Given the description of an element on the screen output the (x, y) to click on. 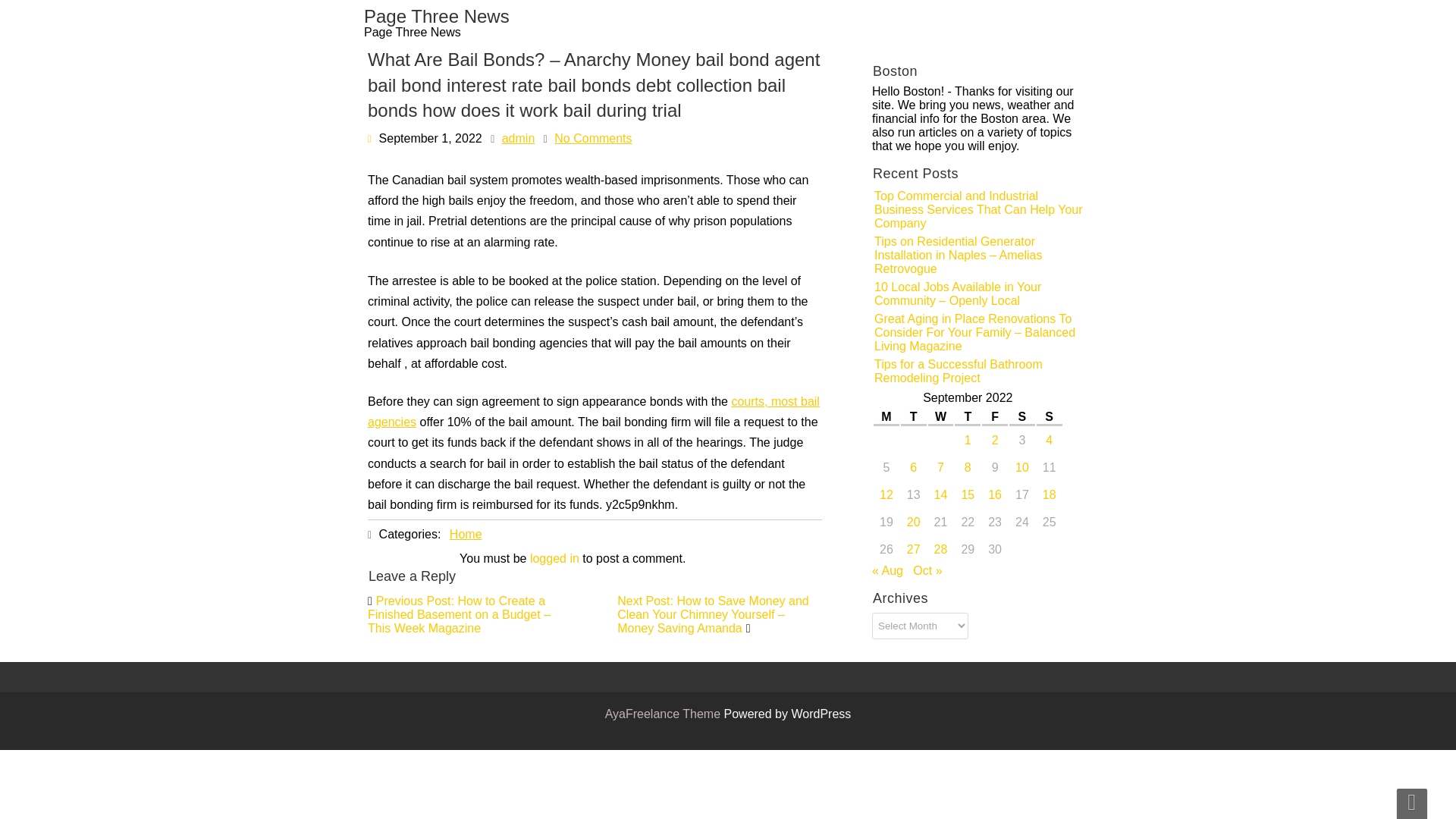
No Comments (619, 245)
Wednesday (943, 417)
Tuesday (911, 417)
12 (1093, 494)
Page Three News (436, 22)
admin (580, 247)
Monday (876, 417)
AyaFreelance Theme (664, 713)
16 (1117, 494)
AyaFreelance Theme (664, 713)
